Given the description of an element on the screen output the (x, y) to click on. 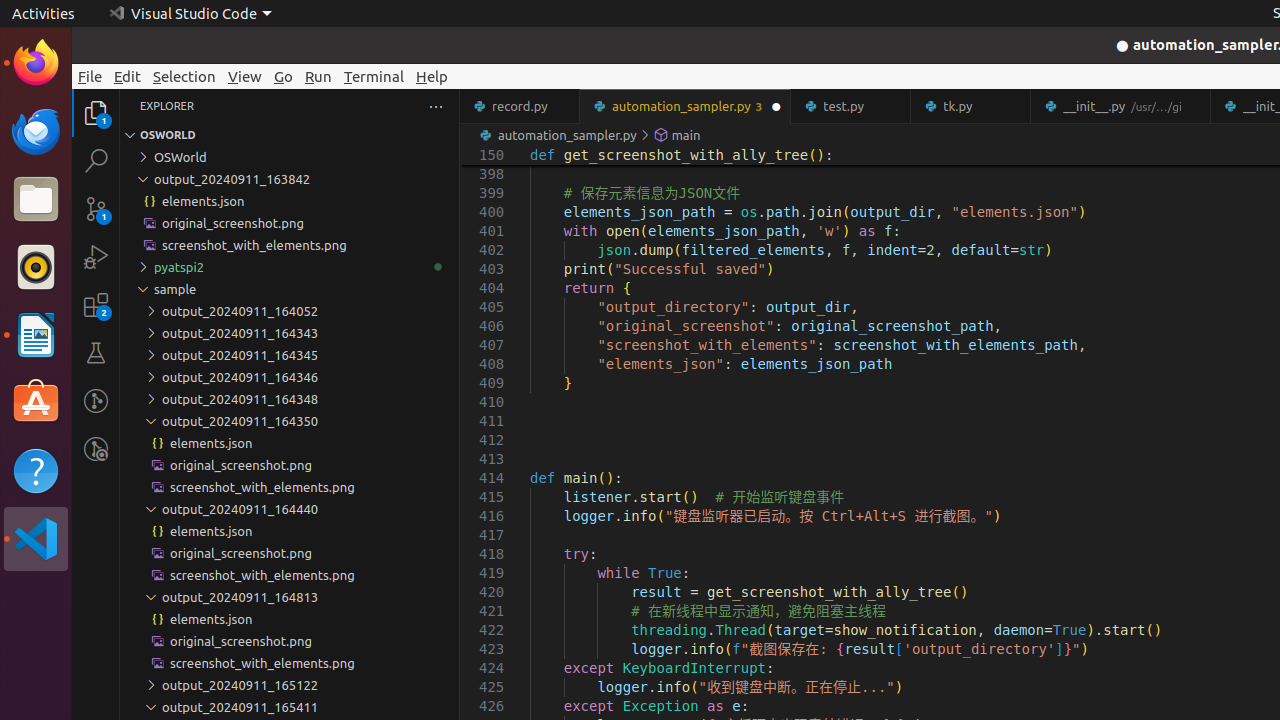
Terminal Element type: push-button (374, 76)
tk.py Element type: page-tab (971, 106)
File Element type: push-button (90, 76)
OSWorld Element type: tree-item (289, 157)
